Given the description of an element on the screen output the (x, y) to click on. 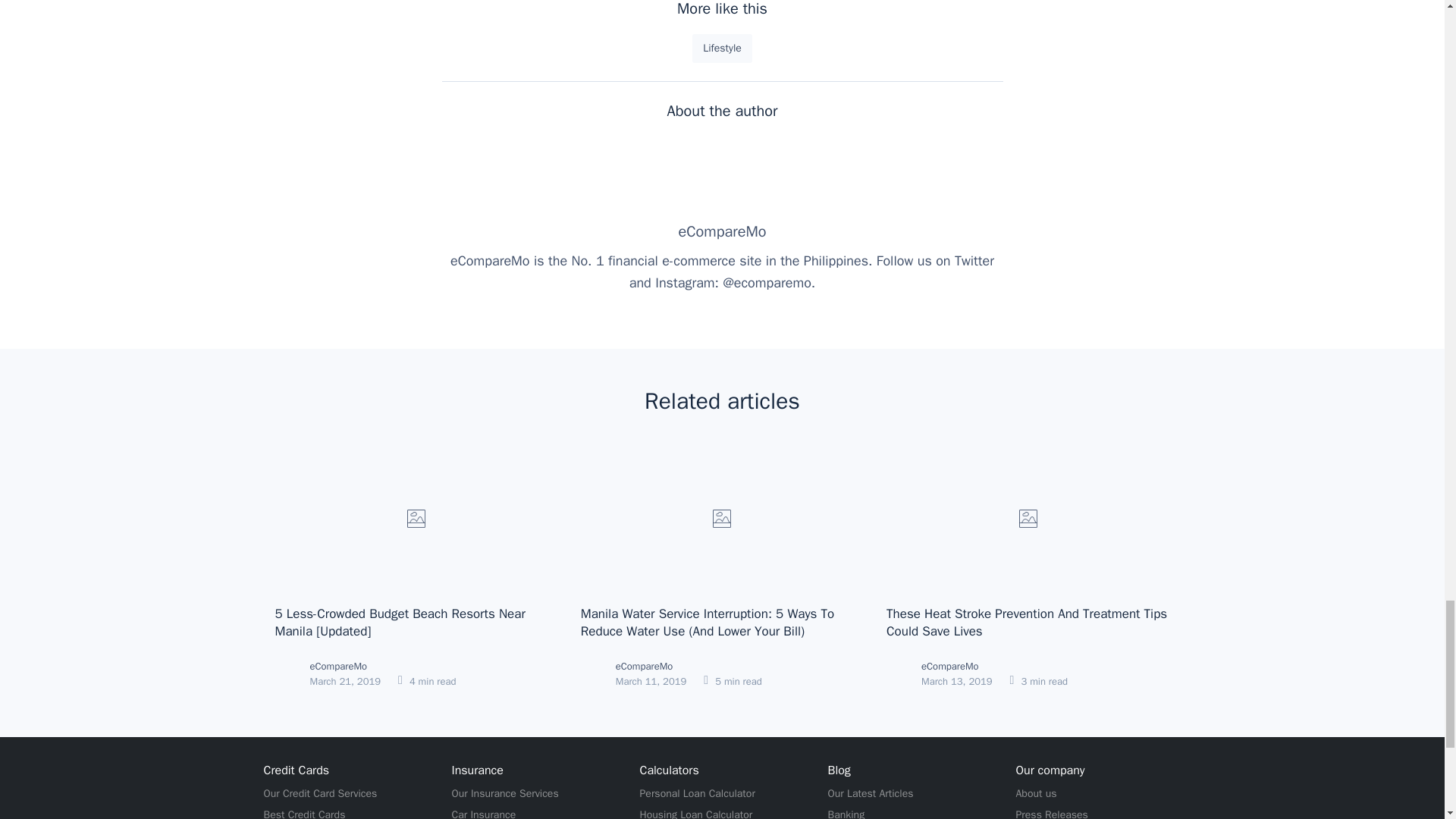
Our Credit Card Services (320, 793)
Lifestyle (722, 48)
Best Credit Cards (304, 812)
View all articles written by eCompareMo  (721, 230)
eCompareMo (721, 230)
Our Insurance Services (505, 793)
Car Insurance (483, 812)
